Given the description of an element on the screen output the (x, y) to click on. 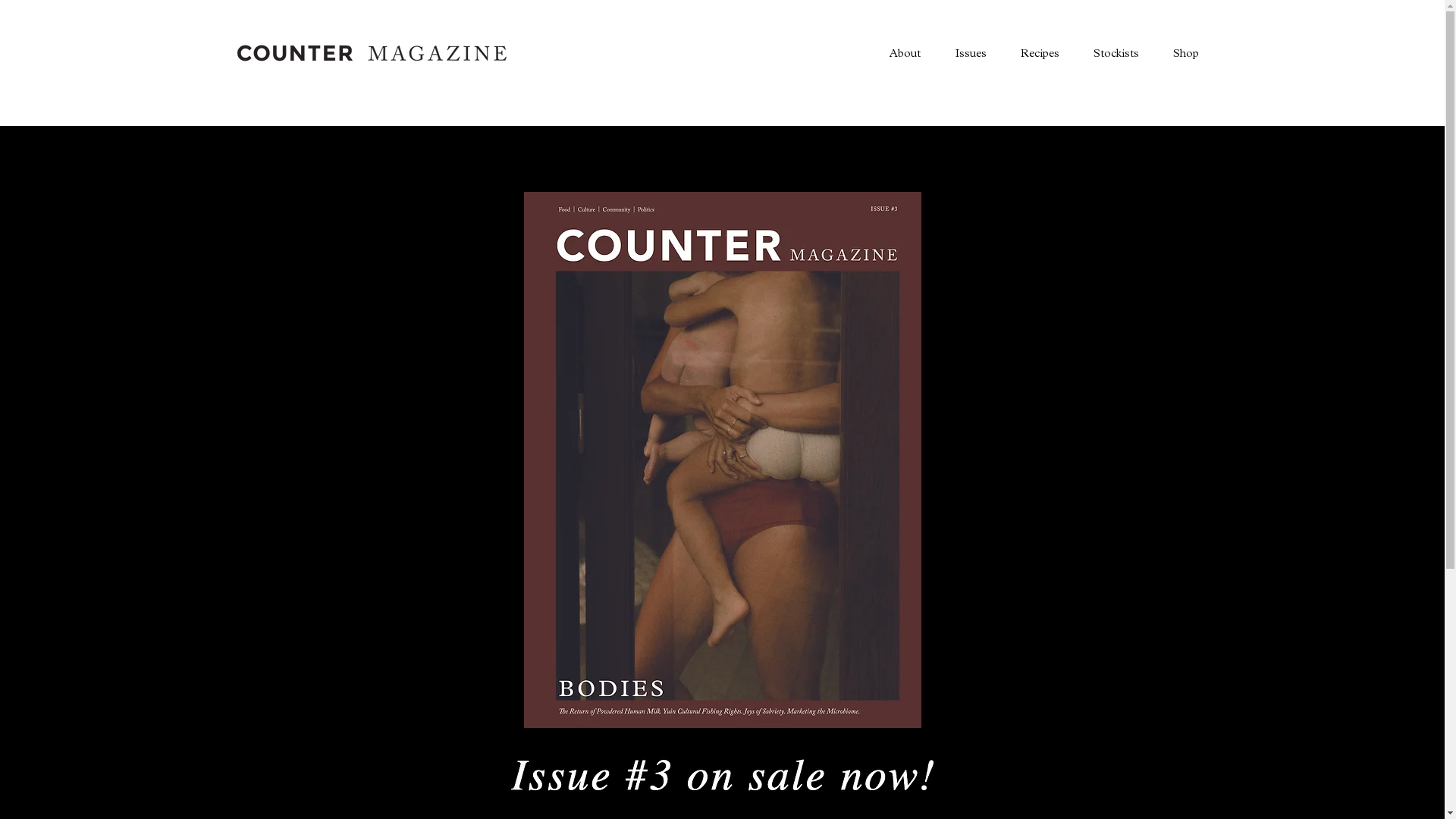
About Element type: text (904, 52)
Stockists Element type: text (1114, 52)
Shop Element type: text (1185, 52)
Issues Element type: text (969, 52)
Recipes Element type: text (1038, 52)
